Given the description of an element on the screen output the (x, y) to click on. 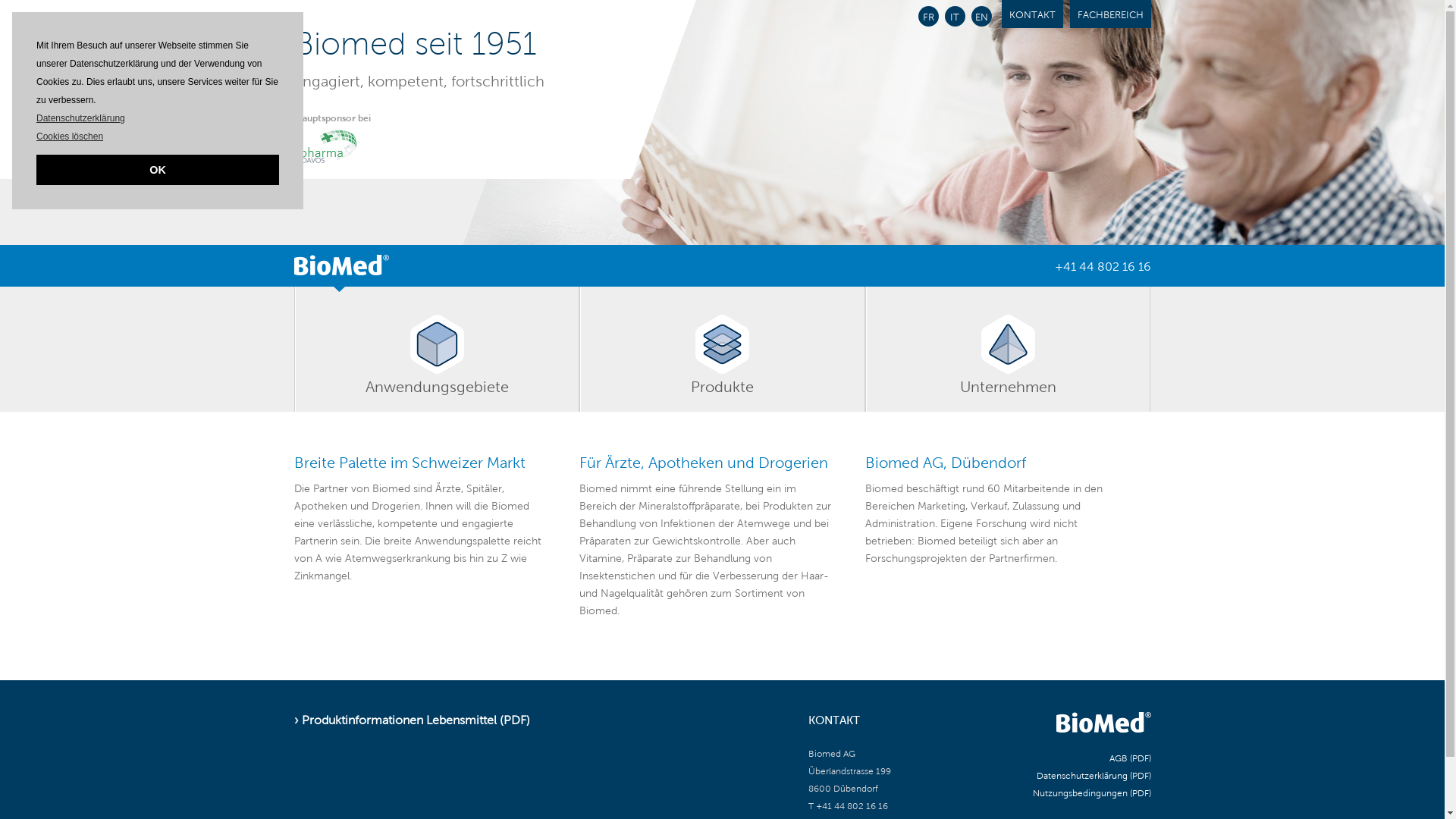
OK Element type: text (157, 169)
Unternehmen Element type: text (1008, 348)
KONTAKT Element type: text (1031, 14)
EN Element type: text (980, 16)
Anwendungsgebiete Element type: text (436, 348)
AGB (PDF) Element type: text (1129, 758)
Produkte Element type: text (722, 348)
IT Element type: text (954, 16)
Nutzungsbedingungen (PDF) Element type: text (1091, 792)
Hauptsponsor bei Element type: text (332, 131)
FACHBEREICH Element type: text (1109, 14)
FR Element type: text (927, 16)
